Given the description of an element on the screen output the (x, y) to click on. 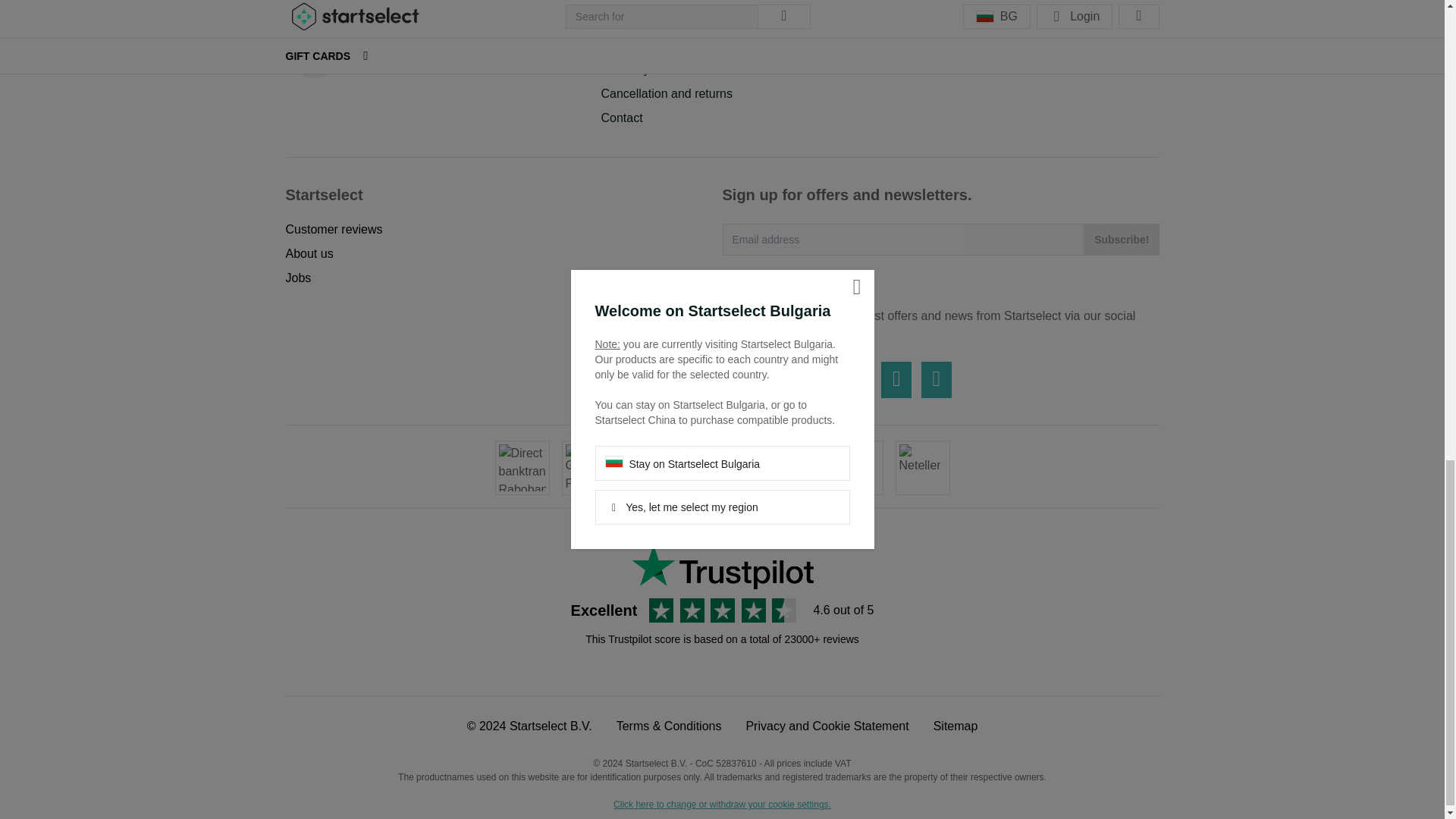
Help with codes (642, 44)
Cancellation and returns (665, 92)
When do I receive my order? (677, 20)
Contact (620, 117)
Warranty (624, 69)
When do I receive my order? (677, 20)
Warranty (624, 69)
Jobs (298, 277)
Cancellation and returns (665, 92)
Subscribe! (1121, 239)
